Given the description of an element on the screen output the (x, y) to click on. 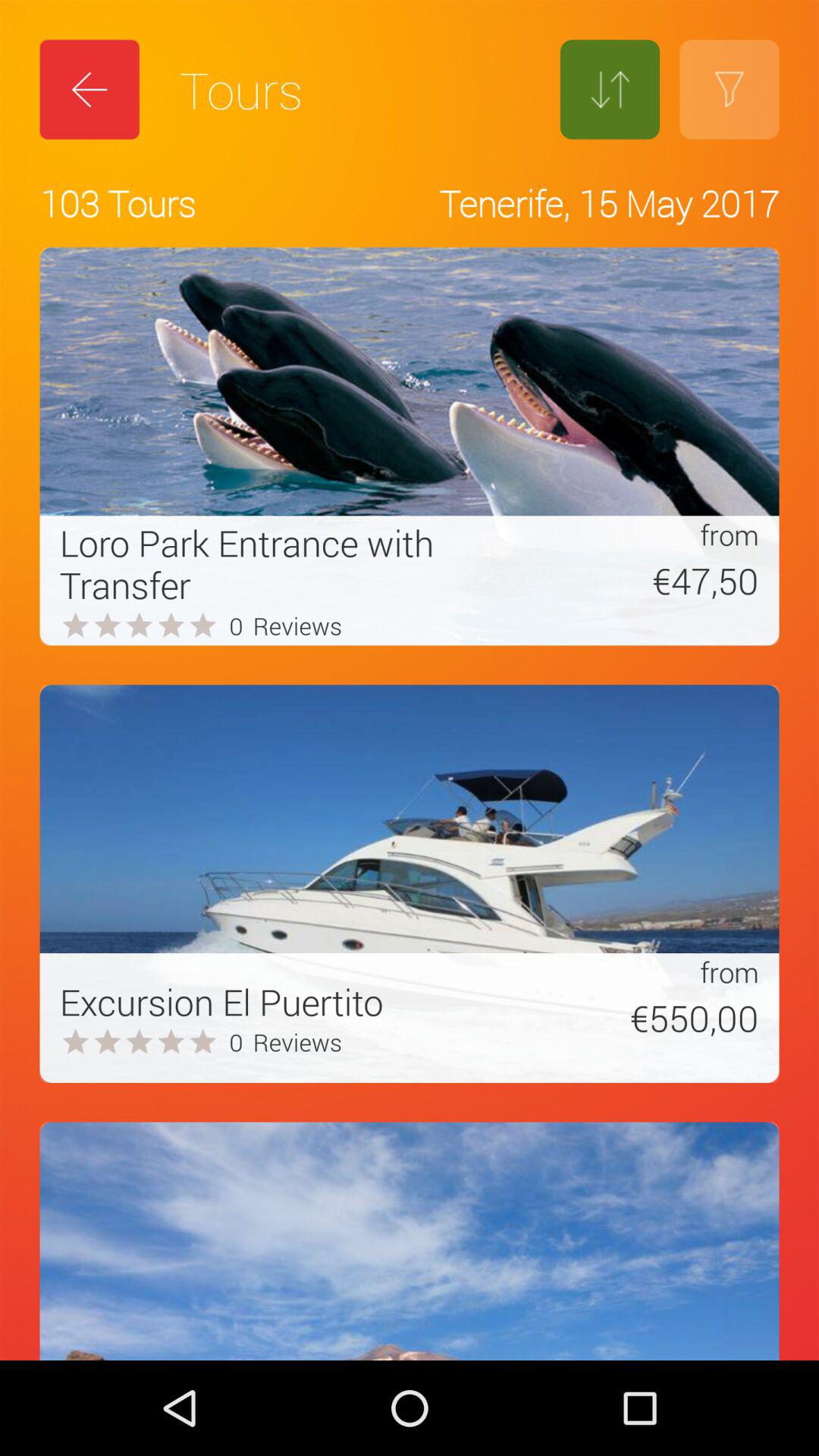
tap the icon to the right of tours (609, 89)
